Given the description of an element on the screen output the (x, y) to click on. 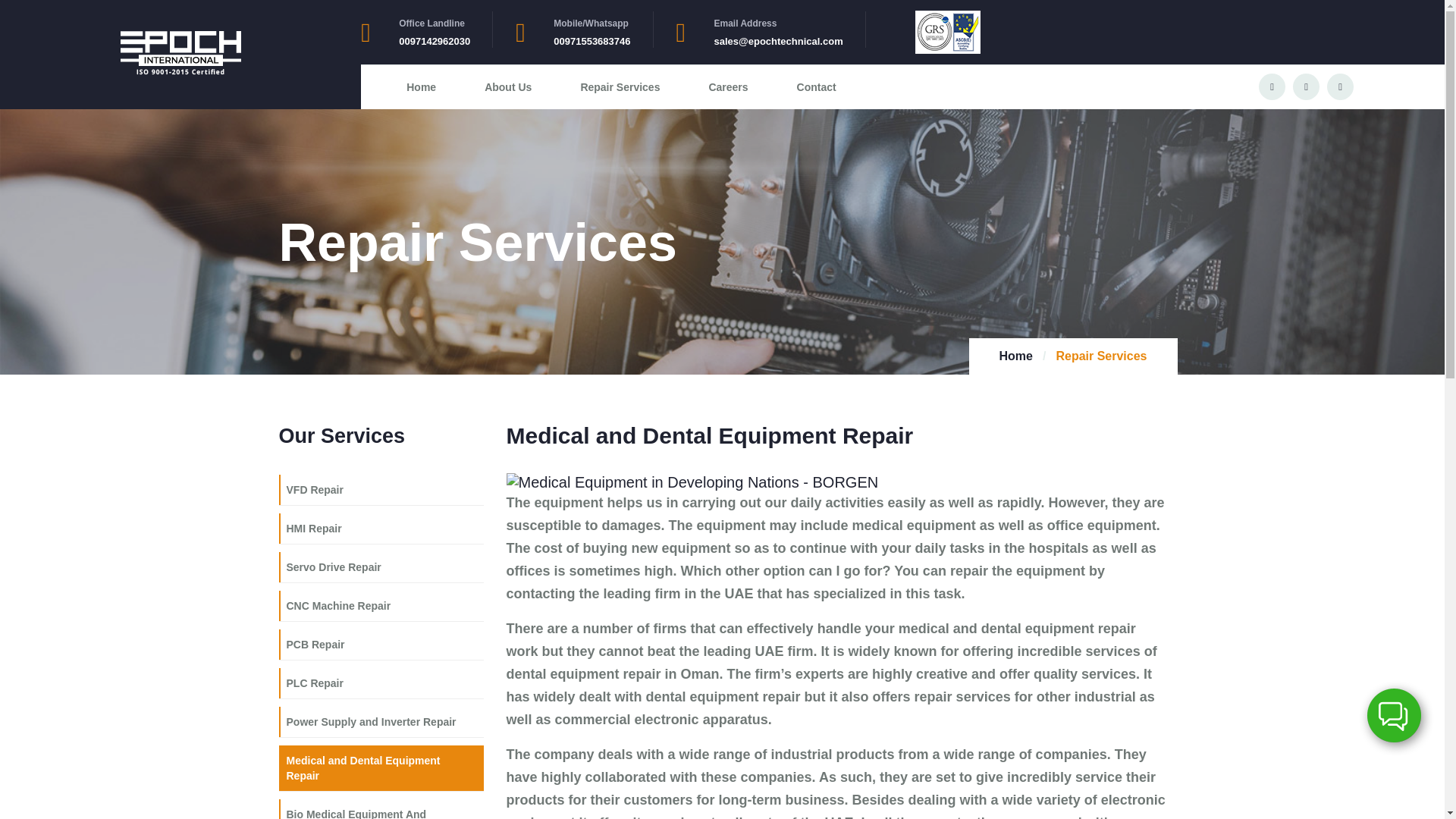
0097142962030 (434, 41)
Contact (815, 87)
Repair Services (619, 87)
00971553683746 (591, 41)
Home (420, 87)
Careers (727, 87)
About Us (507, 87)
